Given the description of an element on the screen output the (x, y) to click on. 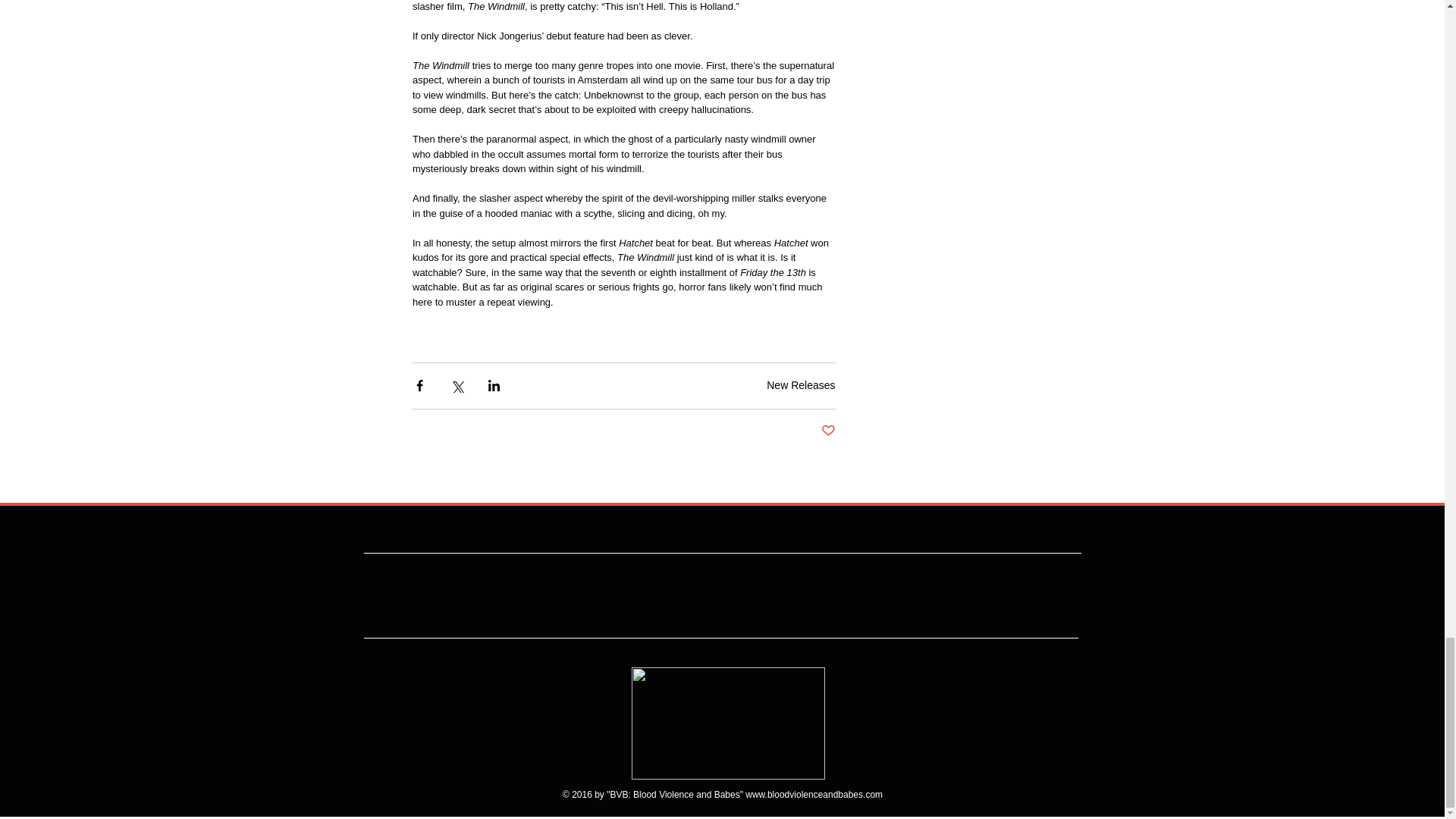
www.bloodviolenceandbabes.com (813, 794)
Post not marked as liked (827, 430)
New Releases (800, 385)
